Given the description of an element on the screen output the (x, y) to click on. 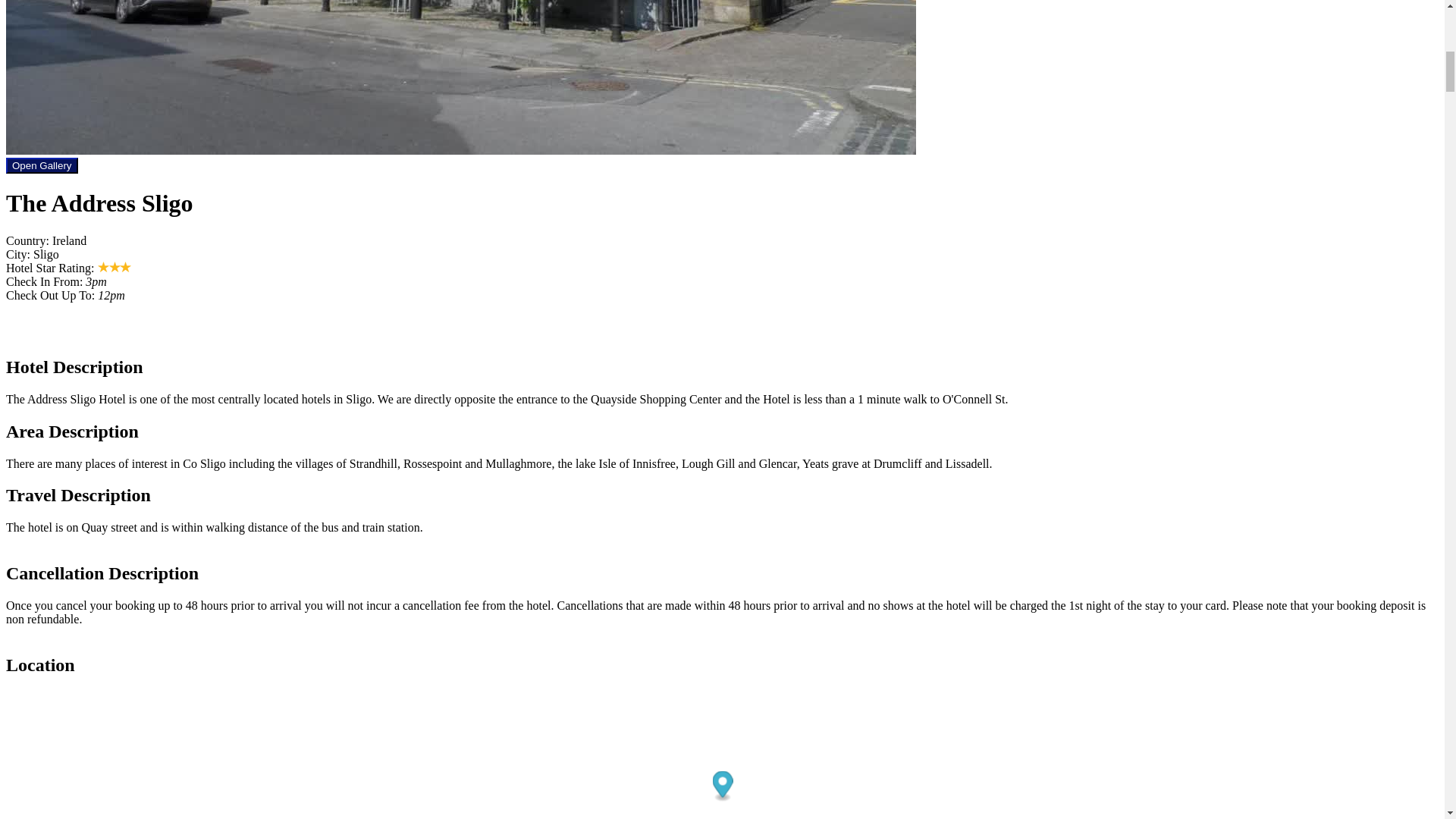
Open Gallery (41, 165)
